Given the description of an element on the screen output the (x, y) to click on. 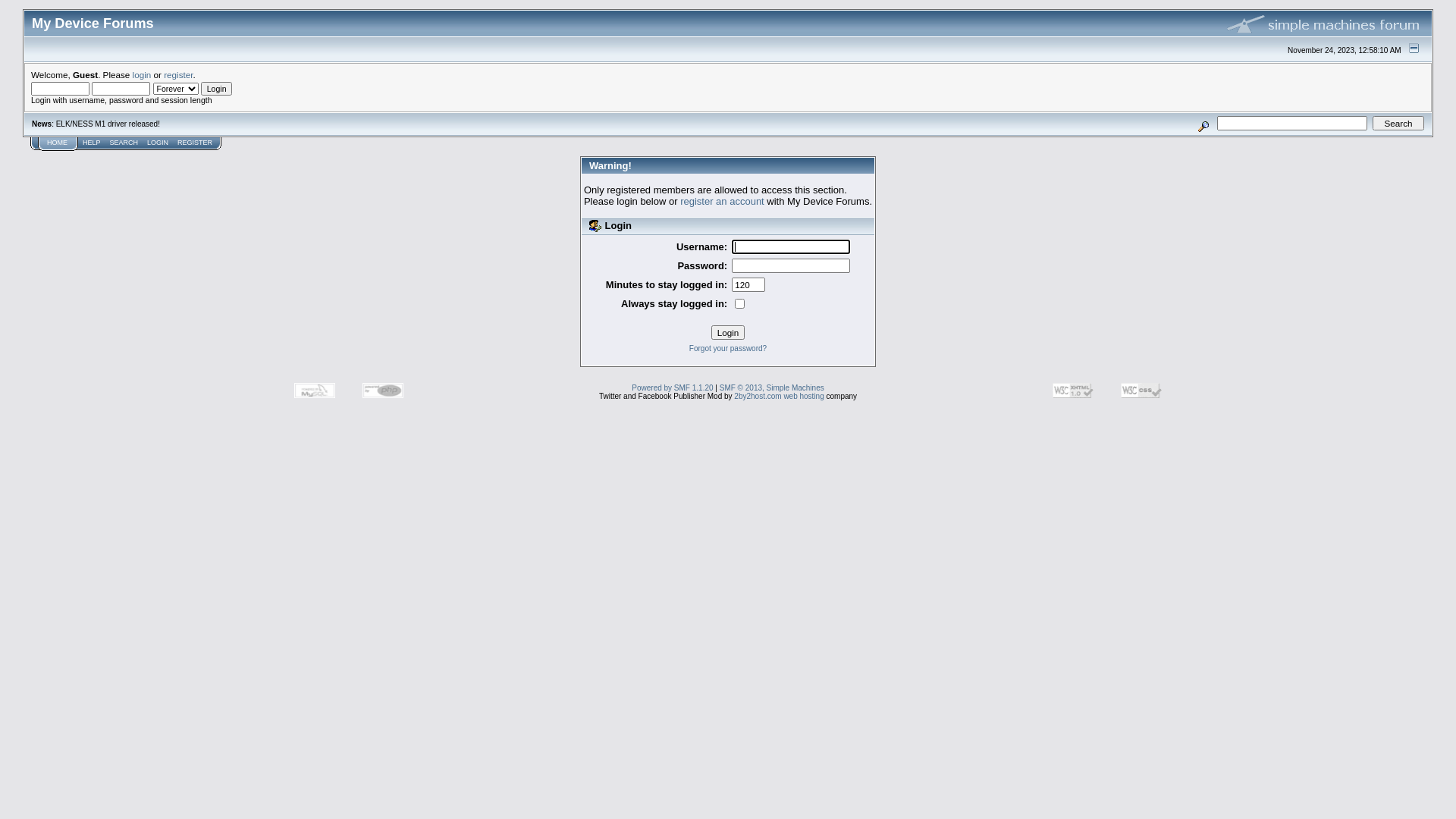
register Element type: text (177, 74)
Login Element type: text (216, 88)
Shrink or expand the header. Element type: hover (1413, 48)
Login Element type: text (728, 332)
login Element type: text (141, 74)
LOGIN Element type: text (157, 142)
2by2host.com Element type: text (757, 396)
register an account Element type: text (722, 201)
web hosting Element type: text (803, 396)
Powered by SMF 1.1.20 Element type: text (671, 387)
SEARCH Element type: text (123, 142)
HOME Element type: text (57, 142)
REGISTER Element type: text (194, 142)
on Element type: text (739, 303)
Forgot your password? Element type: text (727, 348)
Search Element type: text (1398, 123)
HELP Element type: text (91, 142)
